Given the description of an element on the screen output the (x, y) to click on. 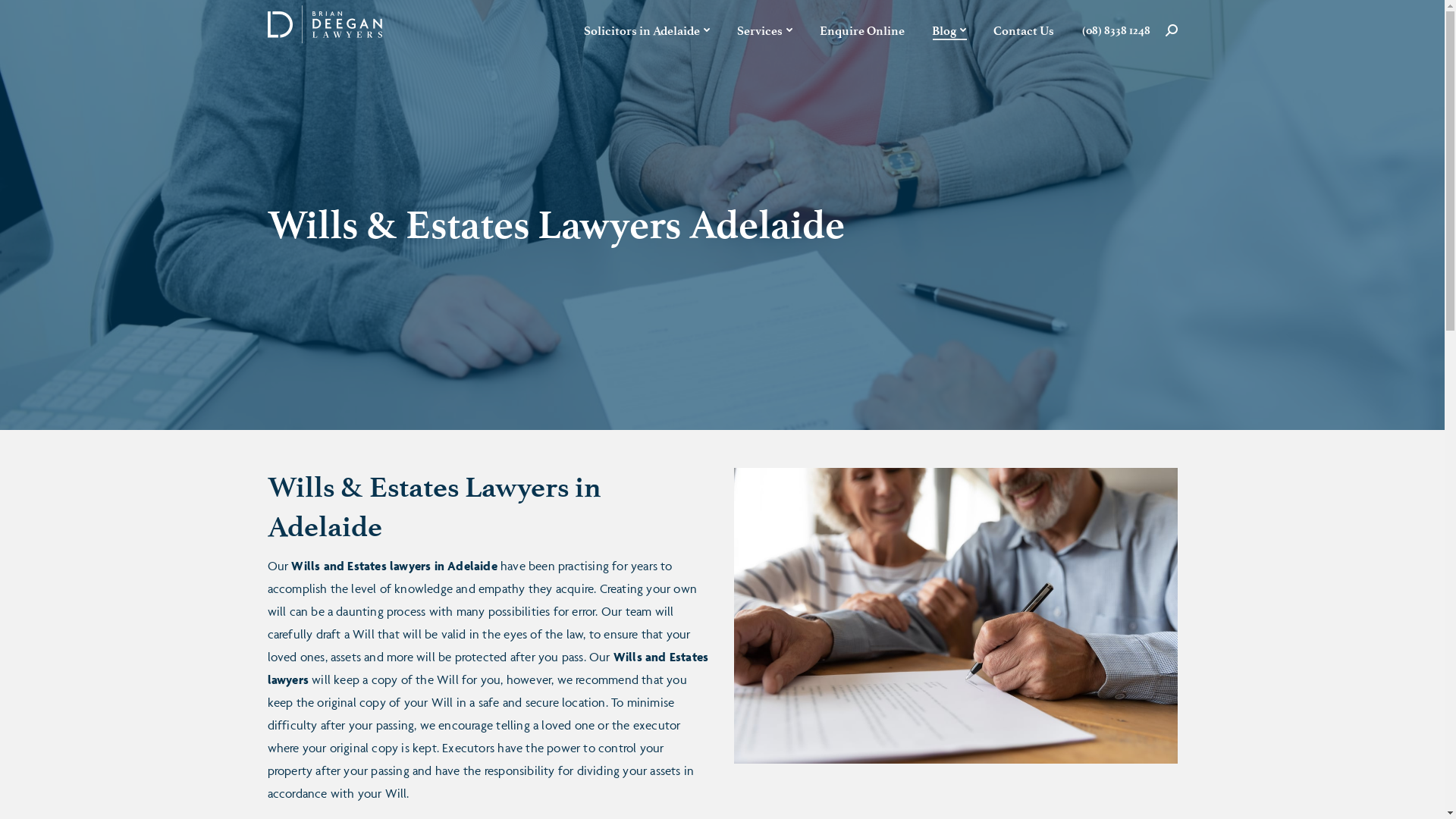
Wills & Estates Lawyers Adelaide Element type: hover (955, 615)
Enquire Online Element type: text (860, 30)
Solicitors in Adelaide Element type: text (646, 30)
Services Element type: text (764, 30)
Blog Element type: text (948, 30)
Contact Us Element type: text (1023, 30)
(08) 8338 1248 Element type: text (1115, 29)
Go! Element type: text (32, 18)
